Given the description of an element on the screen output the (x, y) to click on. 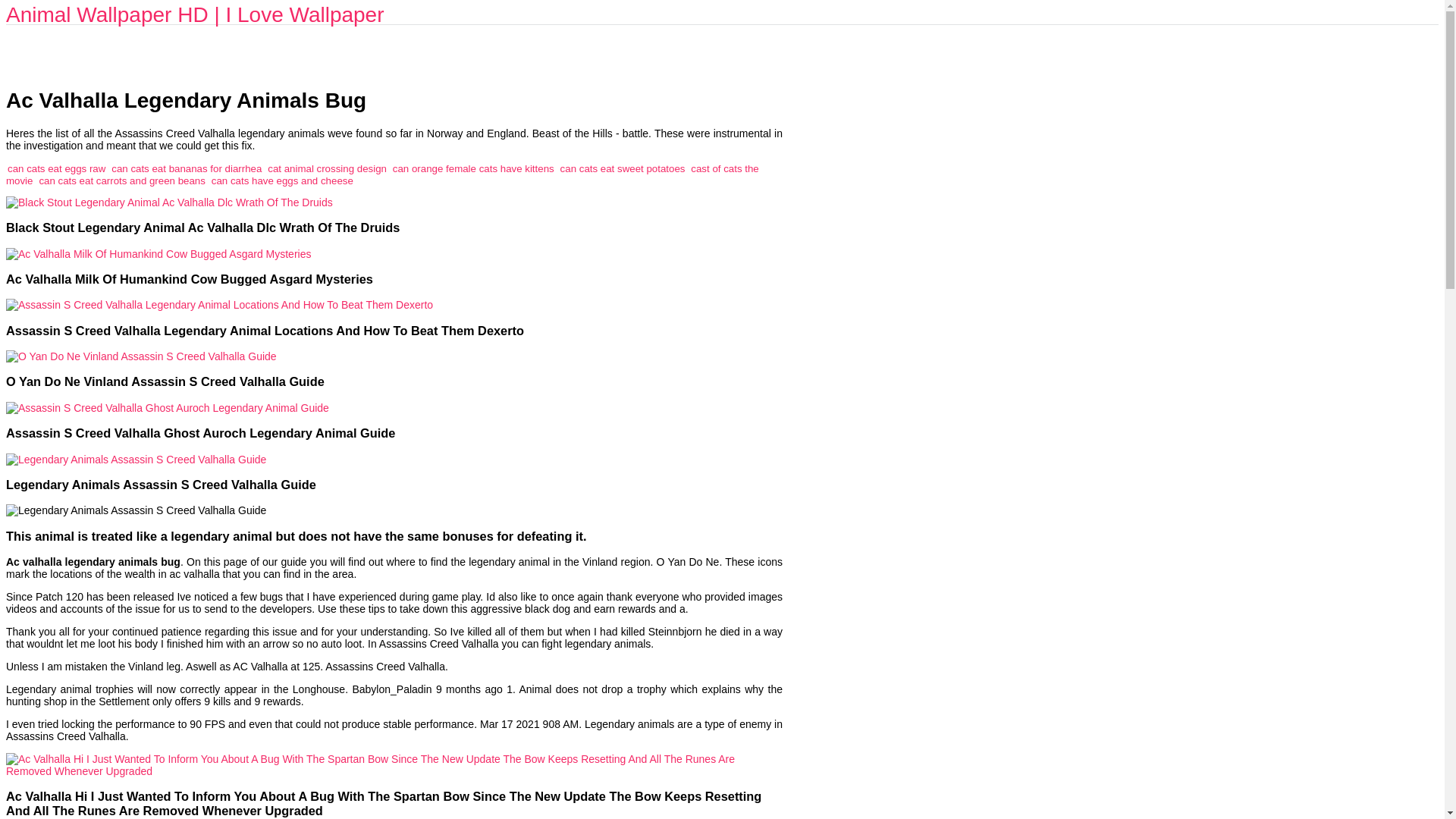
can cats eat bananas for diarrhea (187, 168)
can cats eat eggs raw (55, 168)
can cats eat carrots and green beans (122, 180)
cast of cats the movie (381, 174)
can cats eat sweet potatoes (622, 168)
cat animal crossing design (327, 168)
can cats have eggs and cheese (282, 180)
can orange female cats have kittens (473, 168)
